Given the description of an element on the screen output the (x, y) to click on. 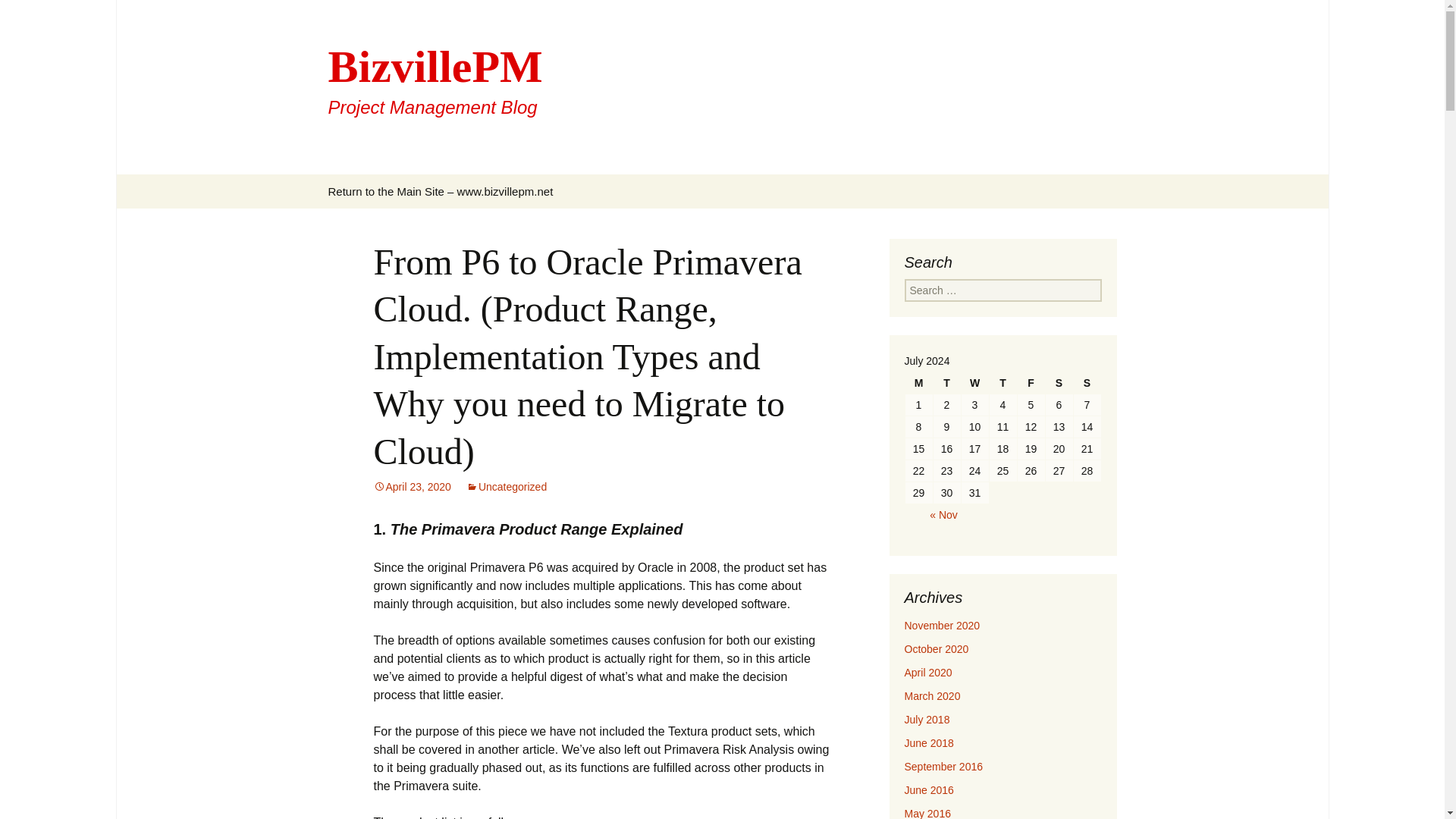
Tuesday (946, 382)
Wednesday (974, 382)
Thursday (1031, 382)
June 2016 (1002, 382)
Sunday (928, 789)
Saturday (1087, 382)
September 2016 (1058, 382)
April 2020 (943, 766)
Search (928, 672)
Uncategorized (18, 15)
March 2020 (506, 486)
Search (931, 695)
June 2018 (34, 15)
